Given the description of an element on the screen output the (x, y) to click on. 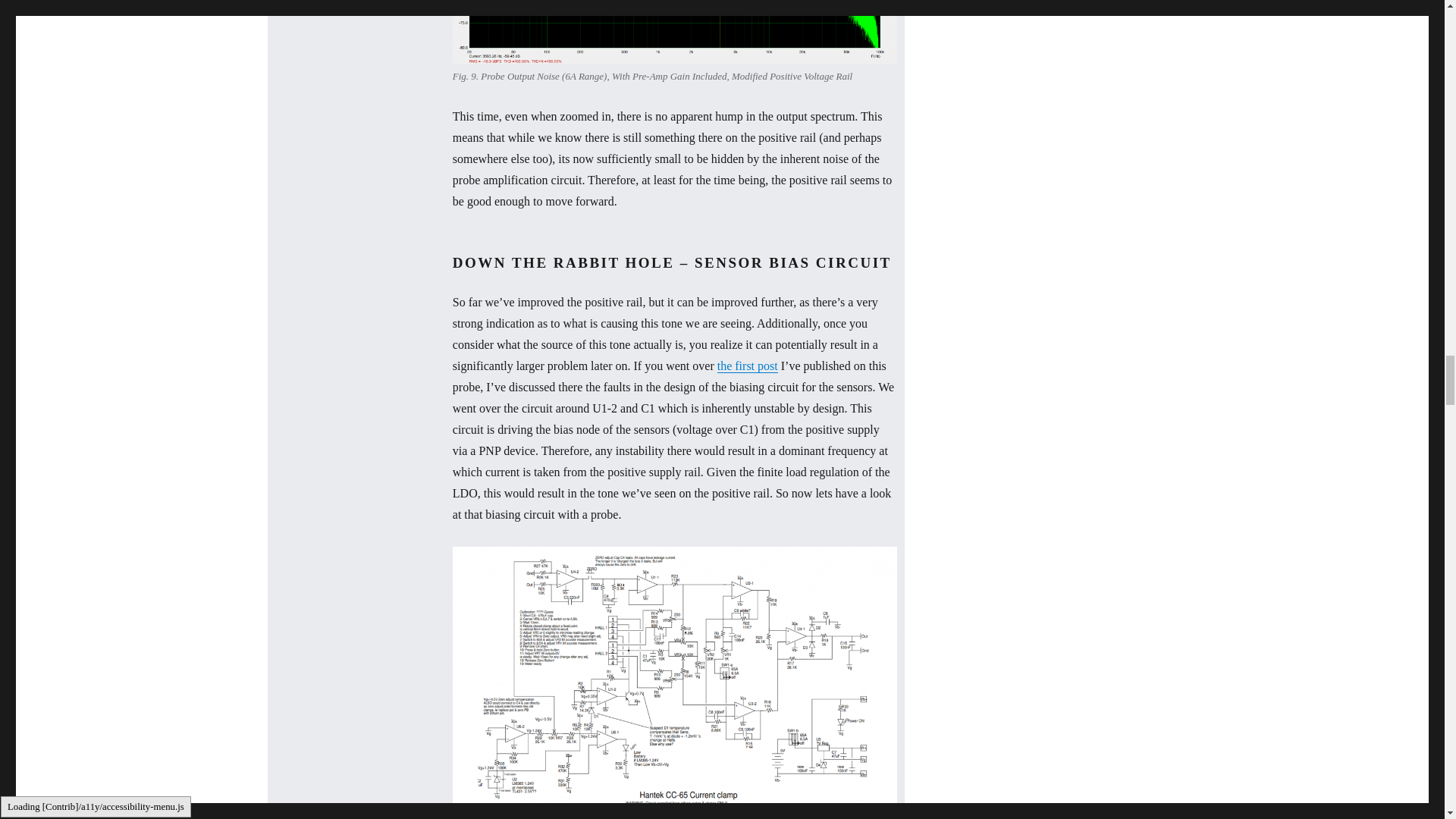
the first post (747, 365)
